Given the description of an element on the screen output the (x, y) to click on. 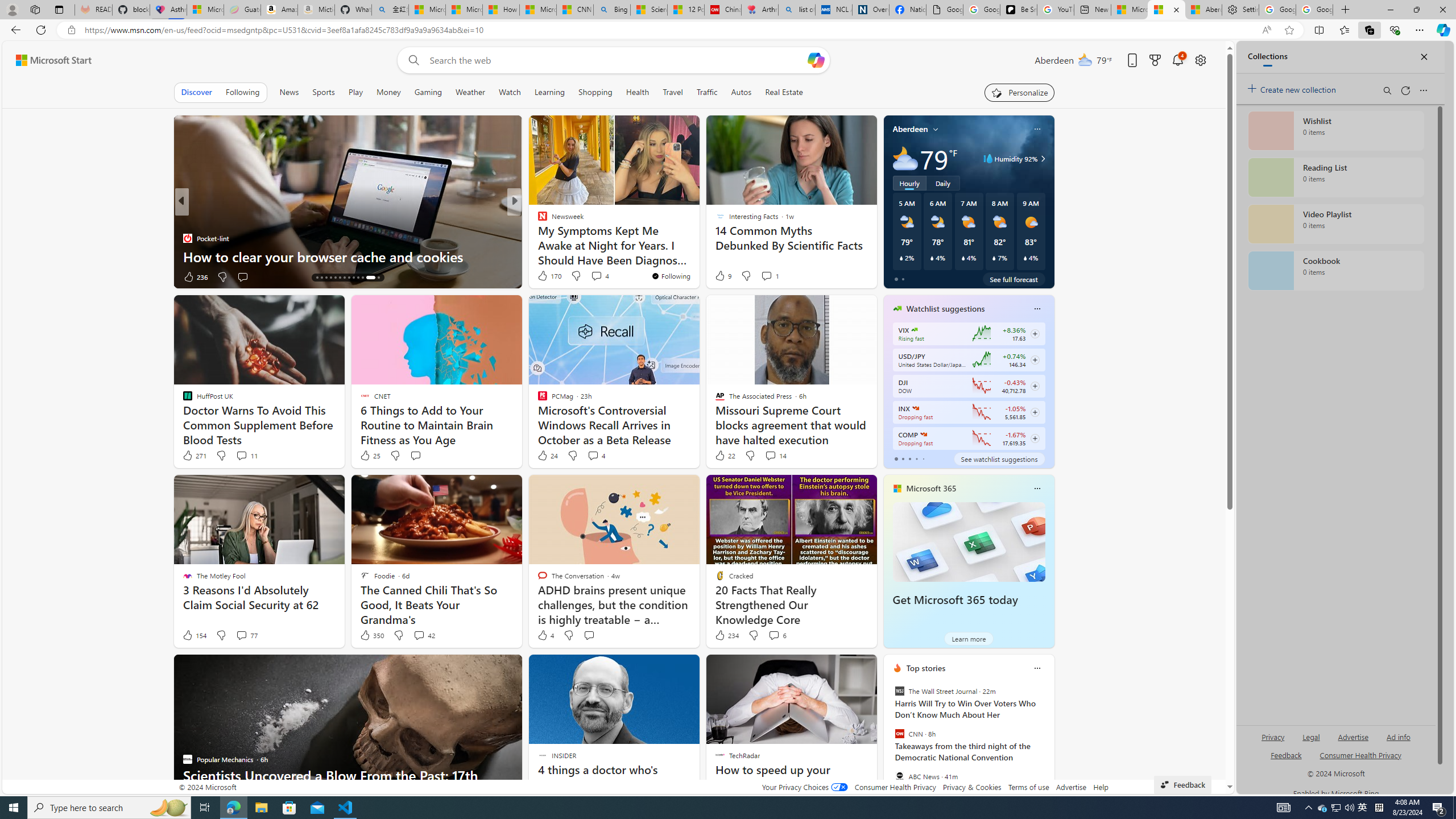
Class: weather-arrow-glyph (1043, 158)
View comments 4 Comment (592, 455)
Mostly cloudy (904, 158)
Get Microsoft 365 today (968, 541)
Google Analytics Opt-out Browser Add-on Download Page (944, 9)
Humidity 92% (1040, 158)
AutomationID: tab-26 (376, 277)
12 Popular Science Lies that Must be Corrected (685, 9)
Discover (196, 92)
AutomationID: genId96 (1285, 759)
Discover (195, 92)
Shopping (595, 92)
